Given the description of an element on the screen output the (x, y) to click on. 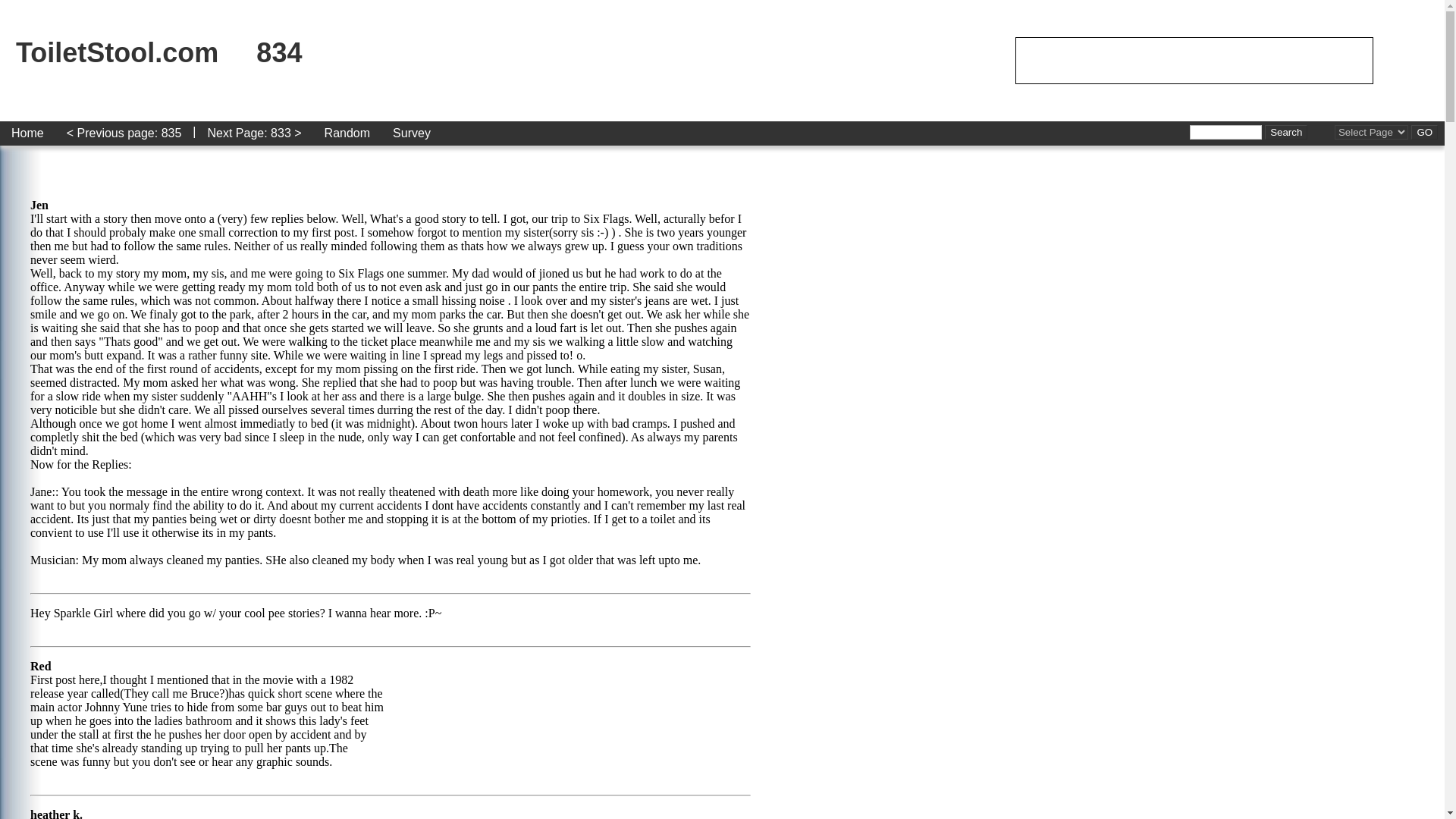
Go backwards to the previous page (124, 133)
ToiletStool.com (117, 51)
GO (1424, 132)
Search (1286, 132)
Random (347, 133)
Survey (411, 133)
GO (1424, 132)
Home (27, 133)
Search (1286, 132)
